Given the description of an element on the screen output the (x, y) to click on. 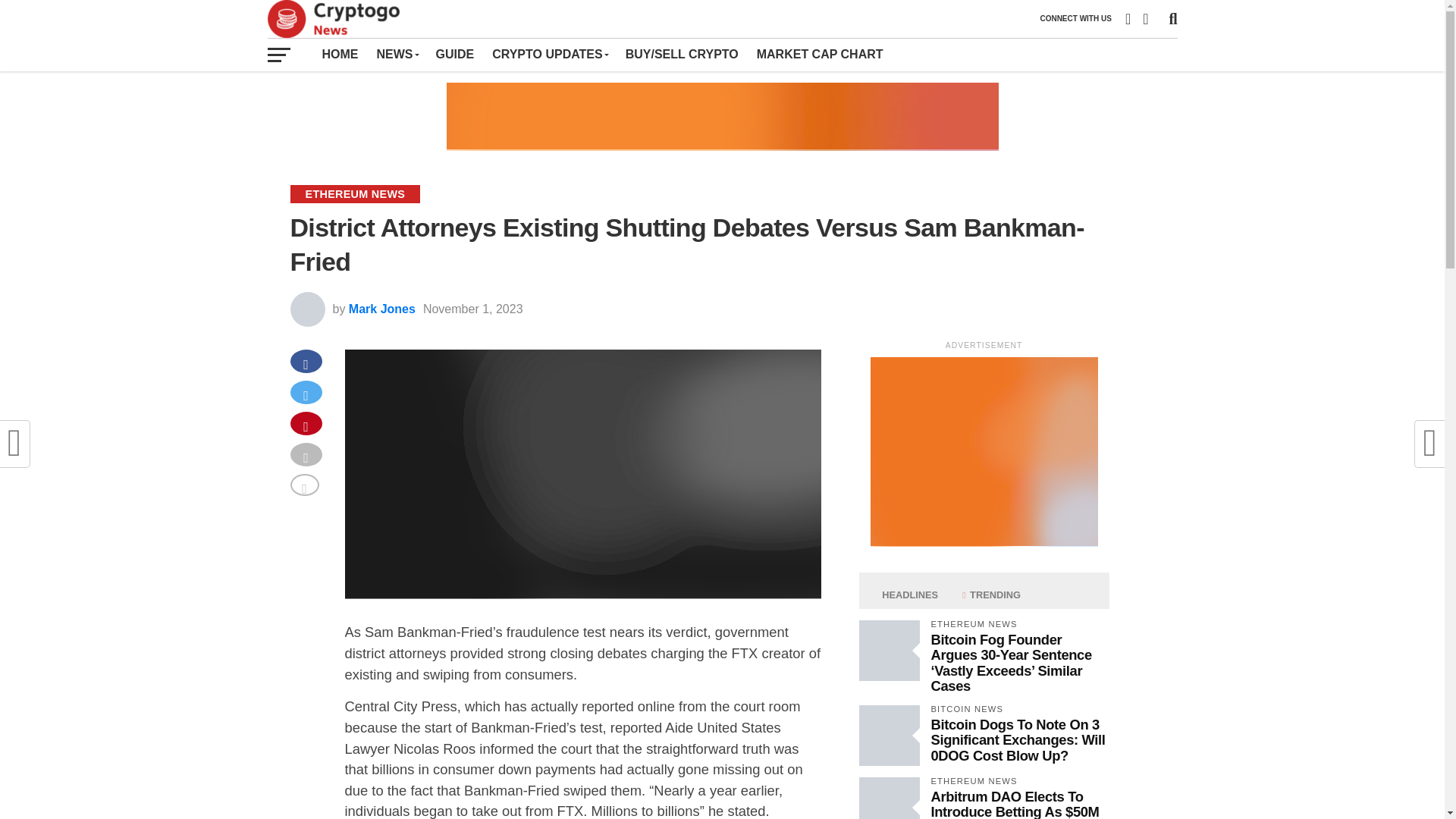
GUIDE (454, 54)
HOME (339, 54)
NEWS (396, 54)
MARKET CAP CHART (820, 54)
Bitcoin IRA (721, 116)
Mark Jones (381, 308)
CRYPTO UPDATES (549, 54)
Posts by Mark Jones (381, 308)
